Given the description of an element on the screen output the (x, y) to click on. 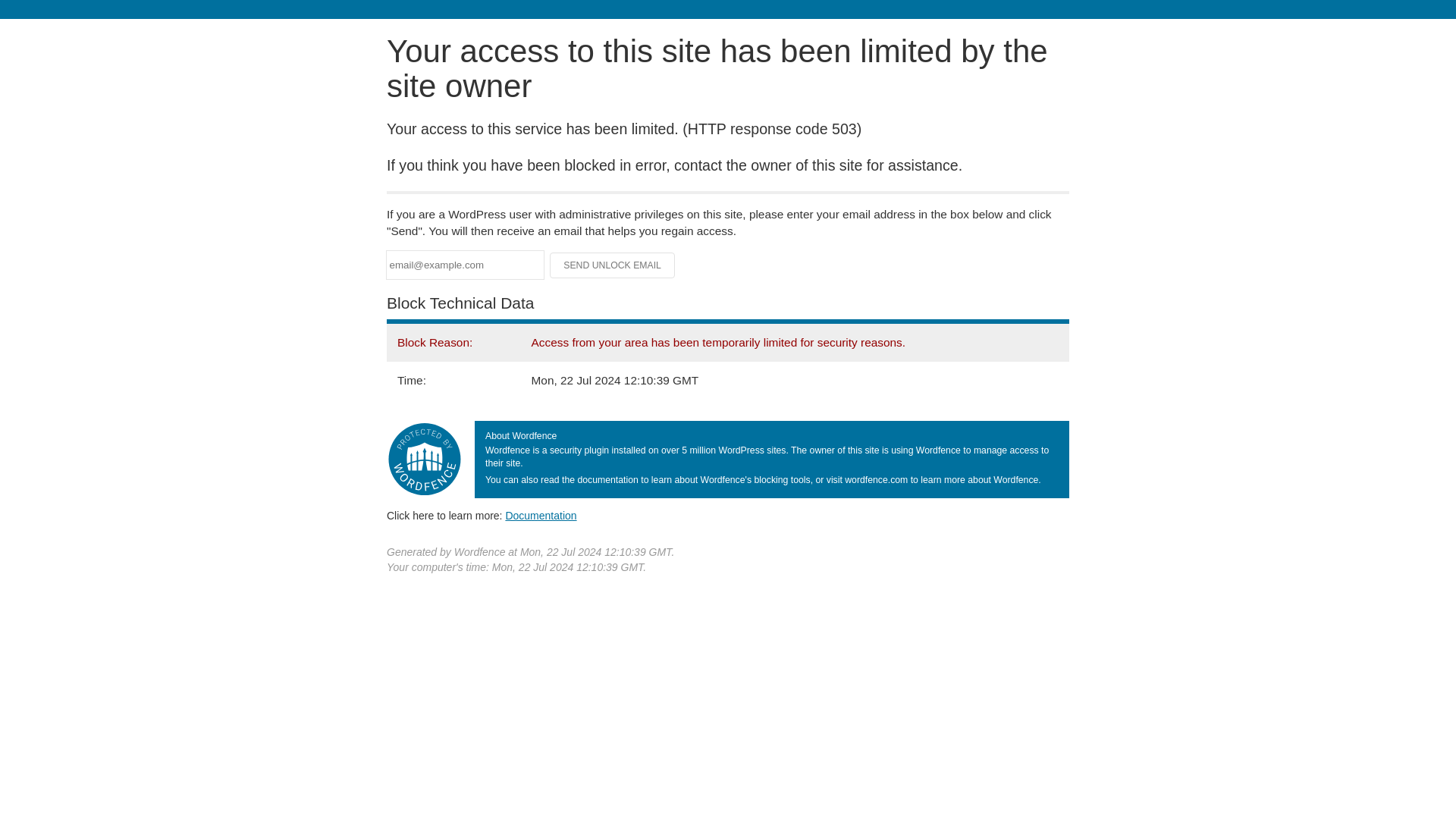
Send Unlock Email (612, 265)
Documentation (540, 515)
Send Unlock Email (612, 265)
